Given the description of an element on the screen output the (x, y) to click on. 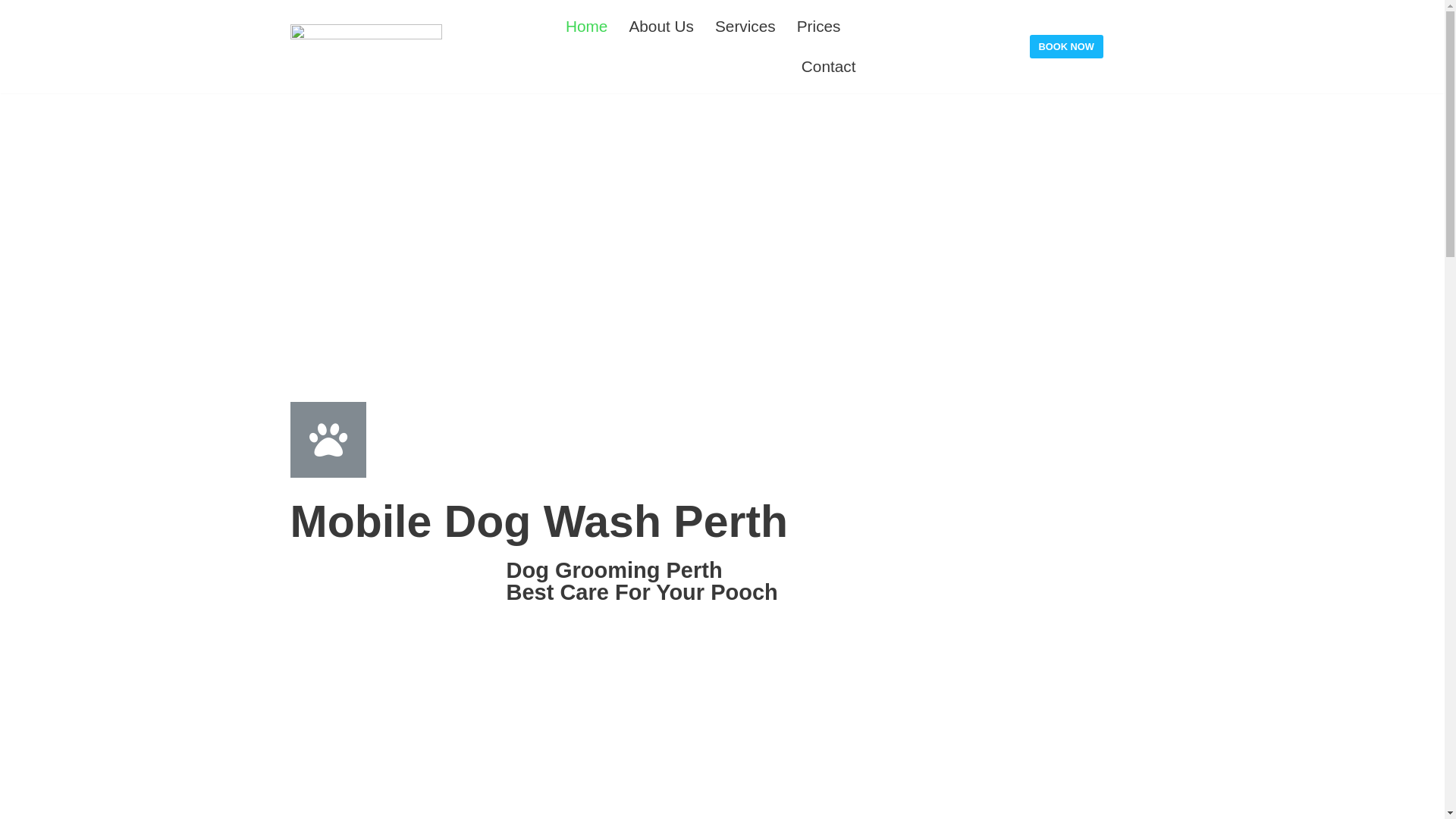
Home Element type: text (586, 25)
Contact Element type: text (828, 65)
Navigation Menu Element type: text (1419, 18)
Prices Element type: text (818, 25)
Dog Grooming Perth Element type: text (614, 570)
Services Element type: text (745, 25)
Mobile Dog Wash Element type: hover (365, 46)
Skip to content Element type: text (15, 7)
BOOK NOW Element type: text (1066, 46)
About Us Element type: text (660, 25)
